Given the description of an element on the screen output the (x, y) to click on. 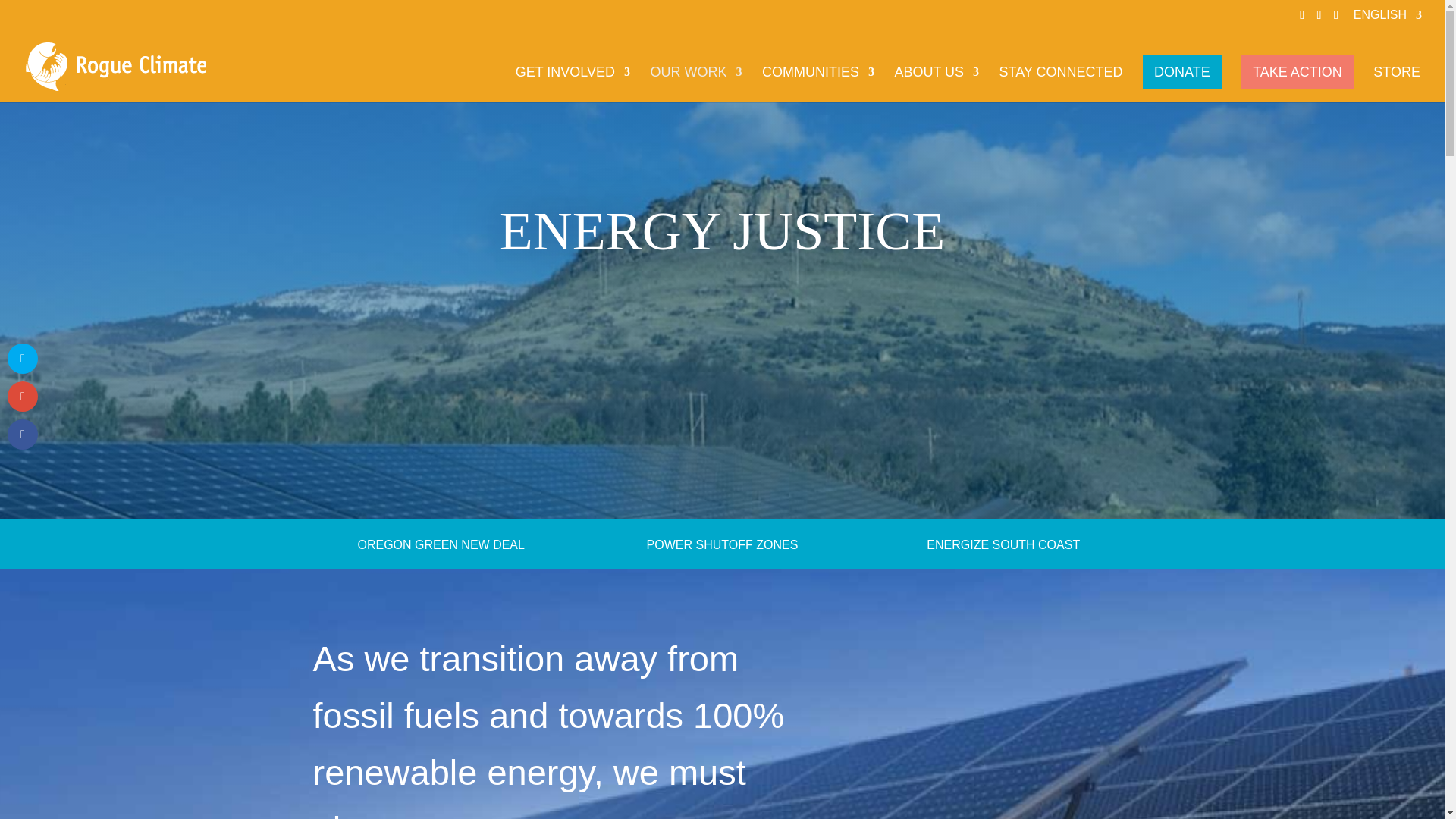
GET INVOLVED (572, 84)
ABOUT US (935, 84)
COMMUNITIES (818, 84)
DONATE (1181, 71)
TAKE ACTION (1297, 71)
ENGLISH (1388, 19)
STORE (1397, 84)
STAY CONNECTED (1060, 84)
OUR WORK (696, 84)
